Given the description of an element on the screen output the (x, y) to click on. 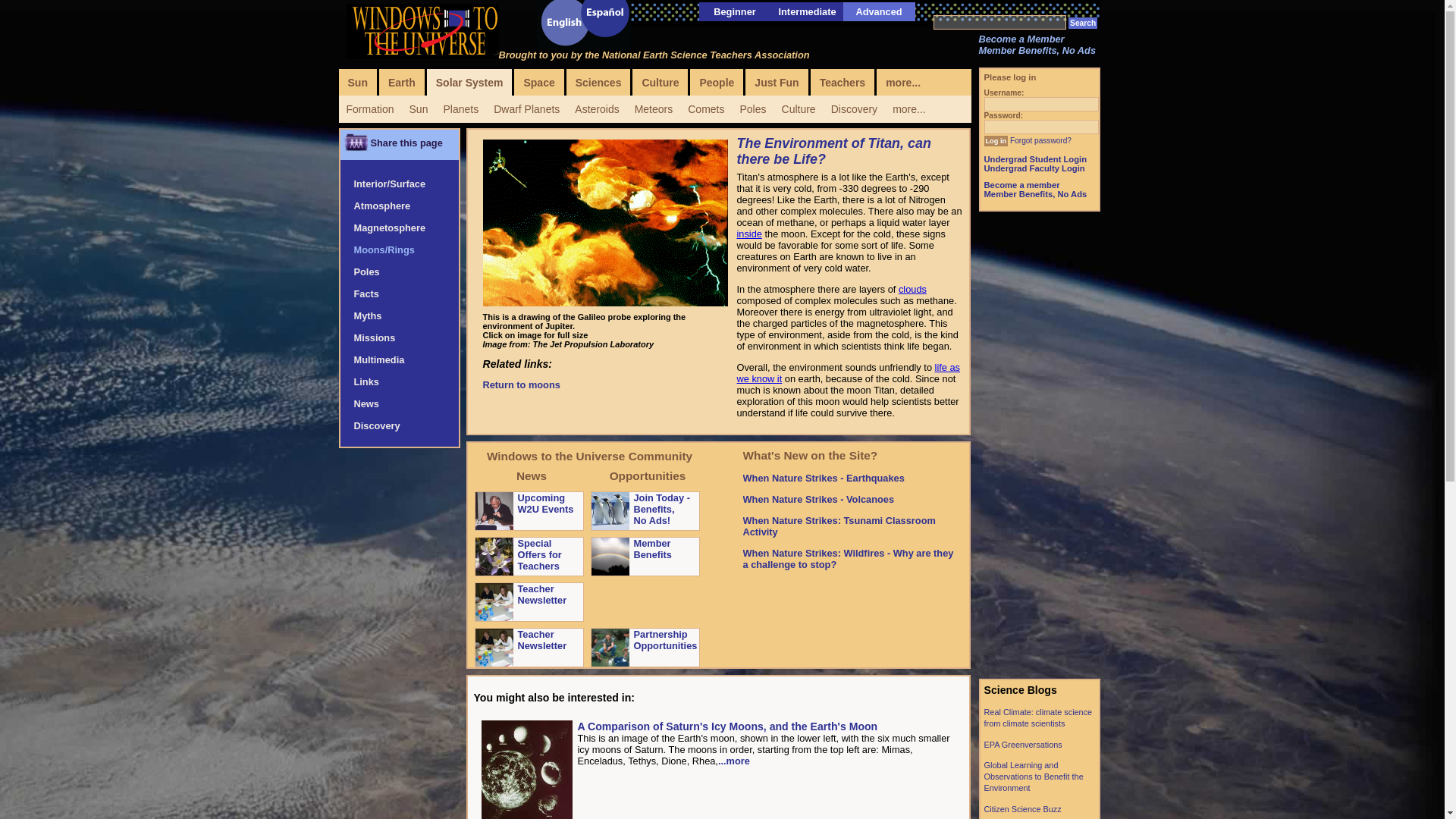
Log in (996, 140)
Search (1082, 22)
Sun (356, 82)
Search (1082, 22)
Intermediate (806, 11)
Beginner (734, 11)
Search (1082, 22)
Advanced (878, 11)
Earth (401, 82)
Become a Member (1021, 39)
Member Benefits, No Ads (1037, 50)
